Given the description of an element on the screen output the (x, y) to click on. 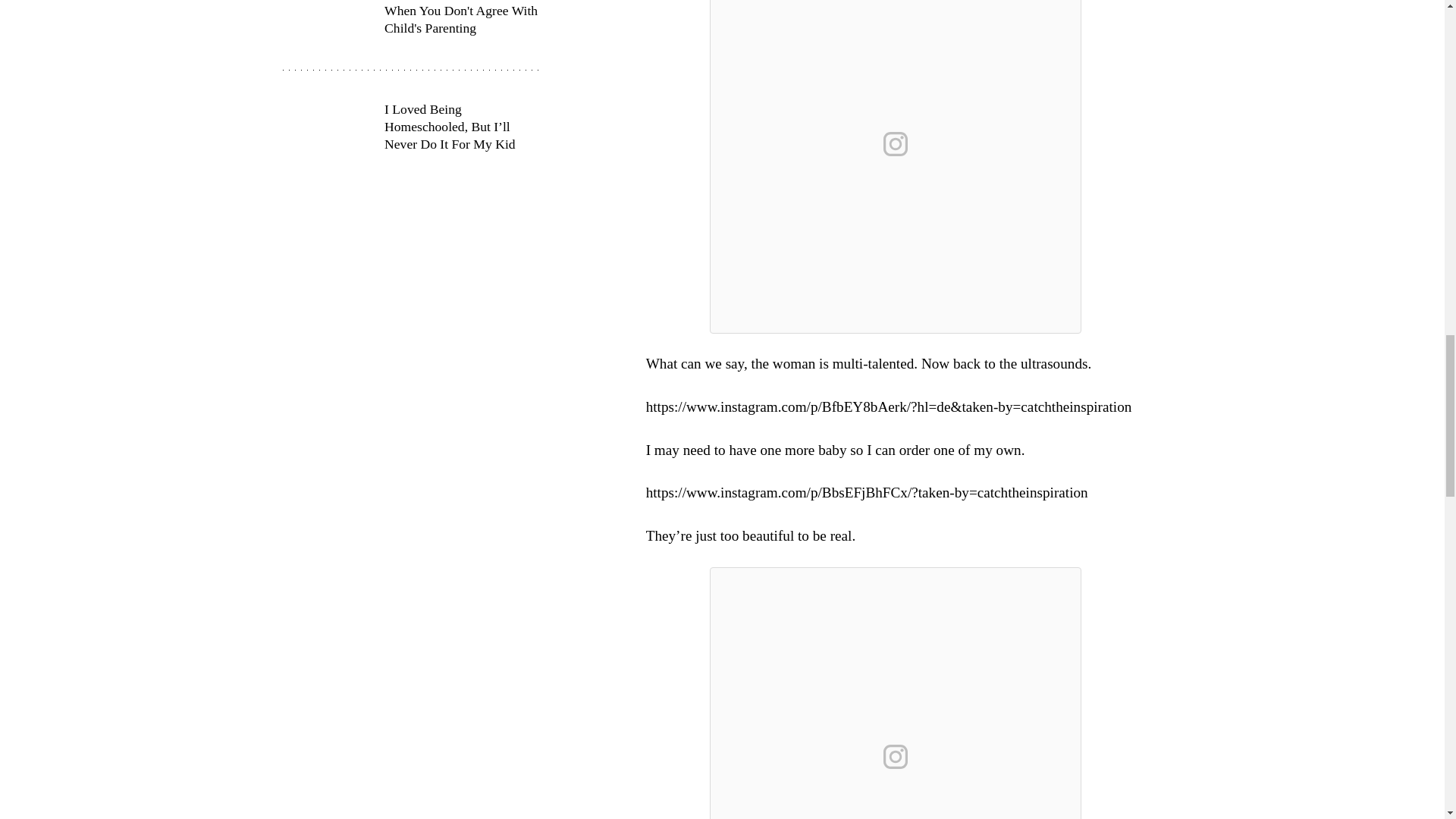
View on Instagram (895, 756)
View on Instagram (895, 144)
